Given the description of an element on the screen output the (x, y) to click on. 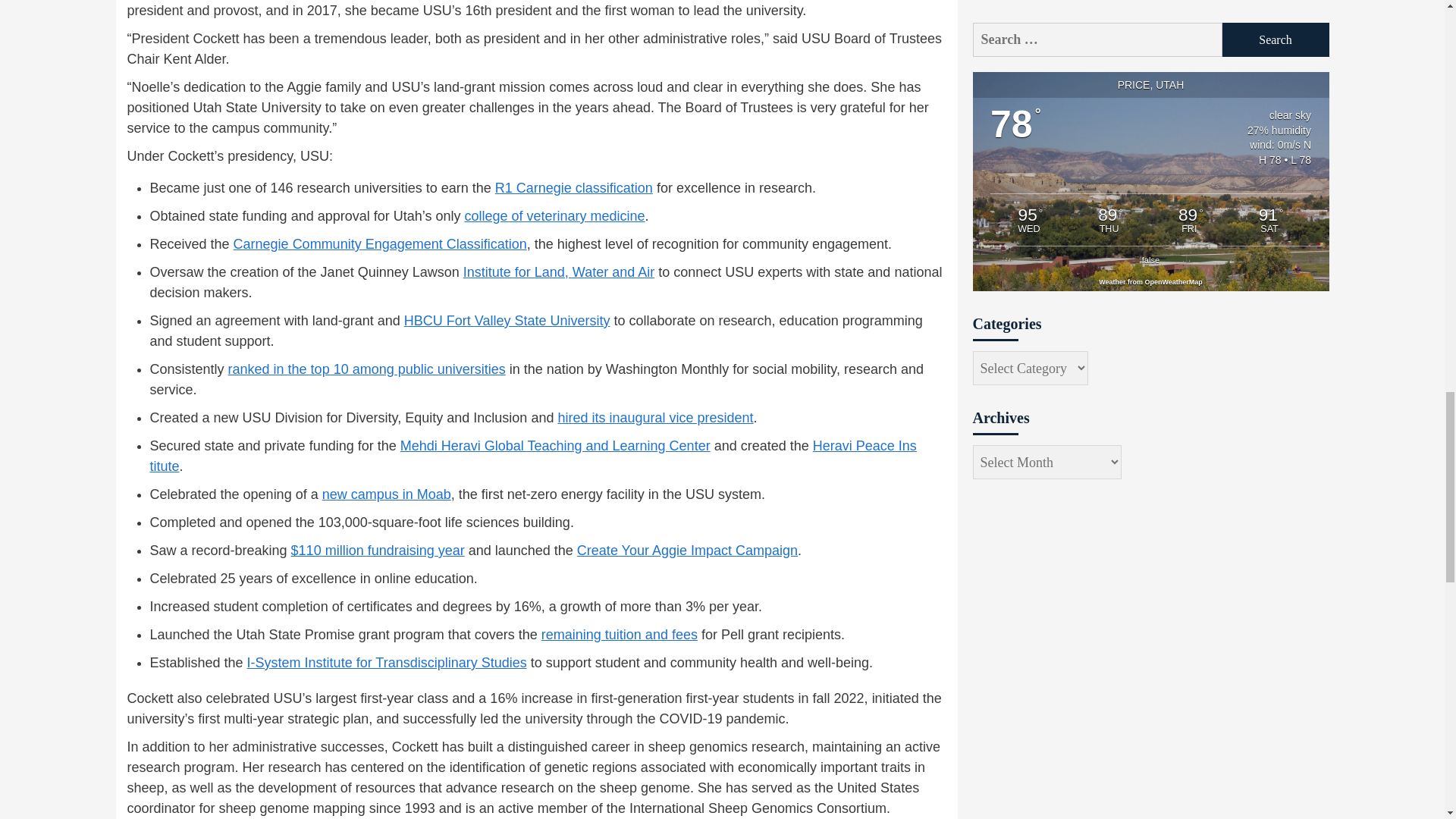
college of veterinary medicine (554, 215)
R1 Carnegie classification (573, 187)
Carnegie Community Engagement Classification (379, 243)
